Given the description of an element on the screen output the (x, y) to click on. 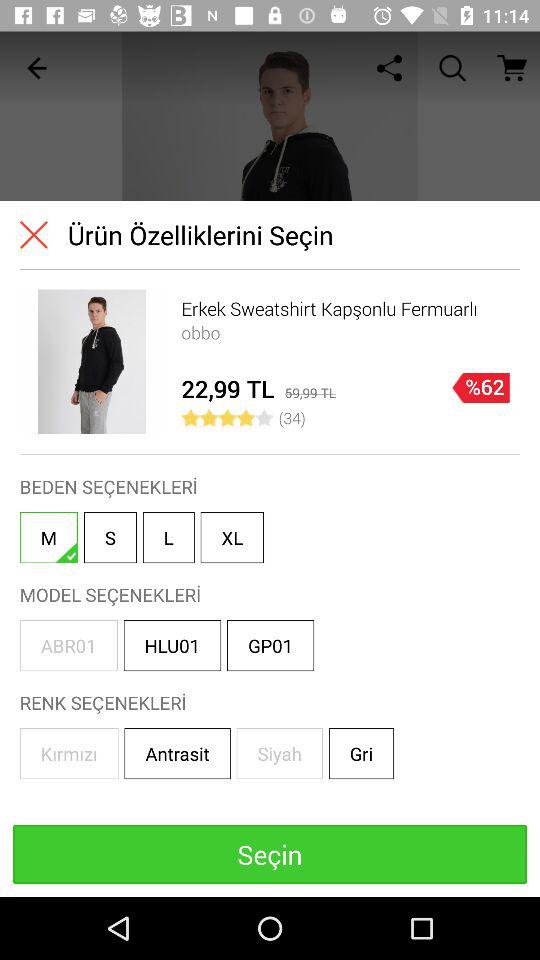
flip until the s item (110, 537)
